Given the description of an element on the screen output the (x, y) to click on. 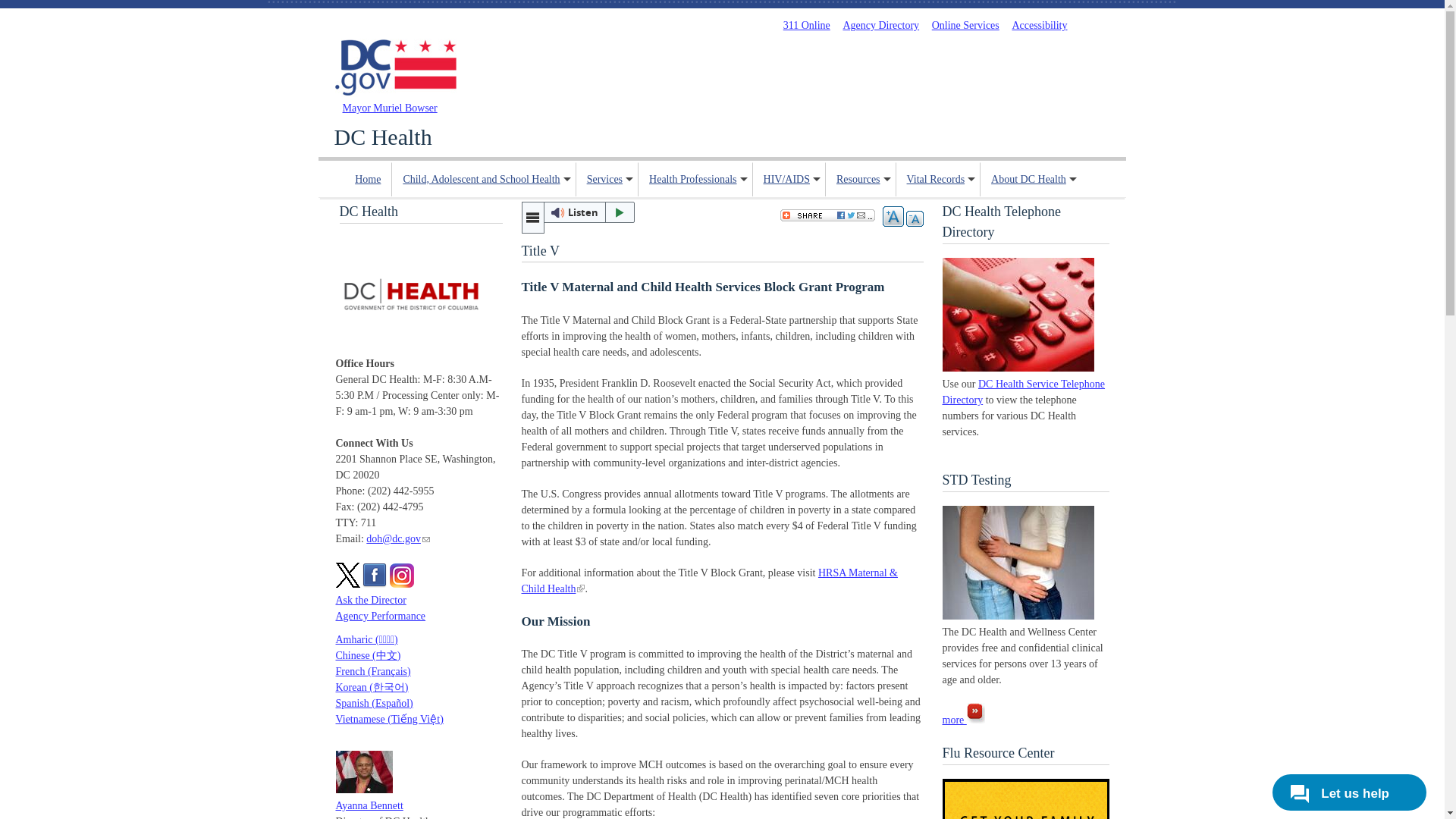
Online Services (964, 25)
311 Online (806, 25)
Agency Directory (880, 25)
Online Services (964, 25)
311 Online (806, 25)
Accessibility (1039, 25)
Accessibility (1039, 25)
Agency Directory (880, 25)
